Given the description of an element on the screen output the (x, y) to click on. 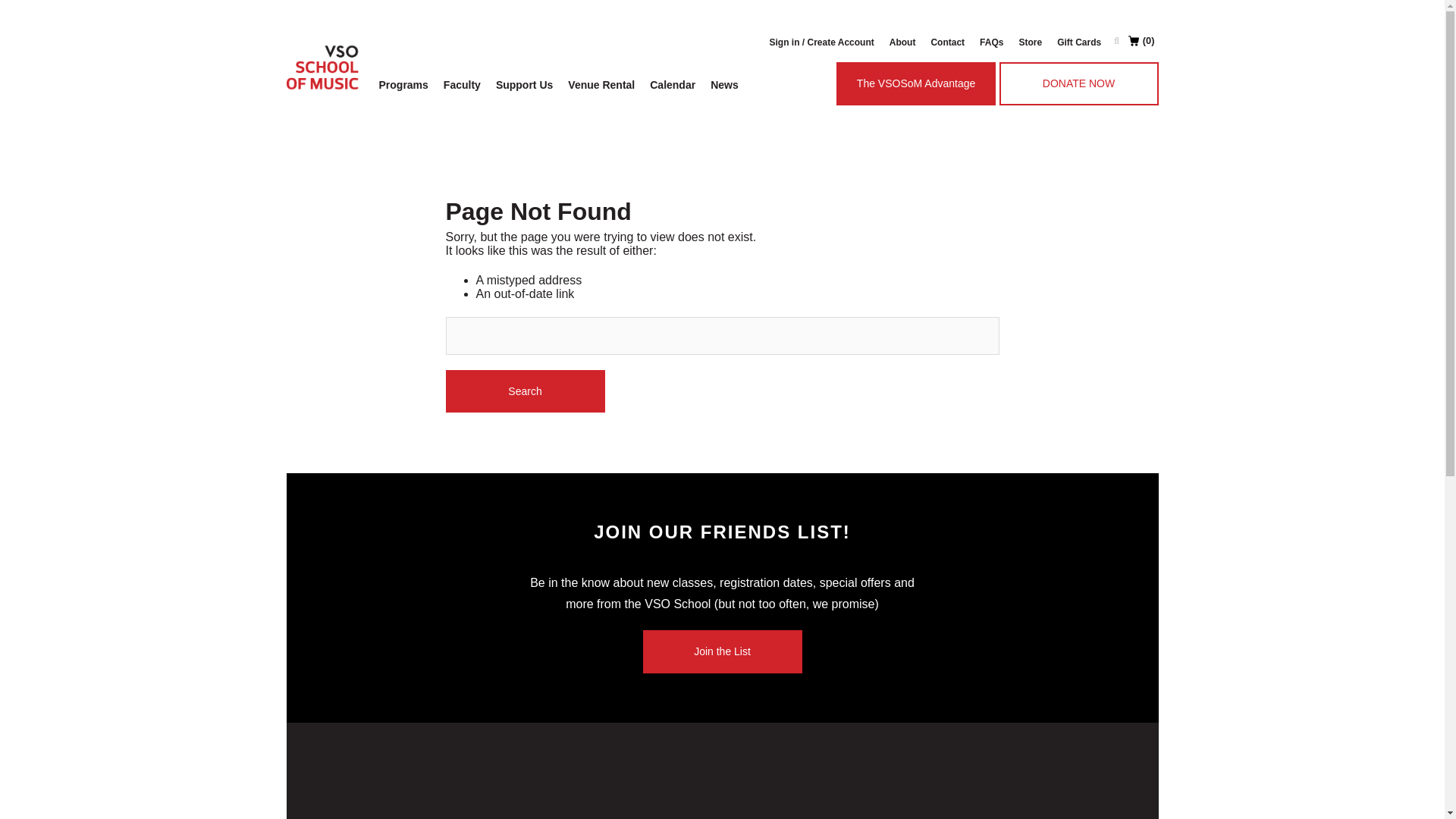
News (724, 84)
FAQs (991, 42)
VSO - School of Music  (322, 67)
Contact (947, 42)
Calendar (672, 84)
The VSOSoM Advantage (915, 83)
Store (1029, 42)
DONATE NOW (1078, 83)
Faculty (461, 84)
Gift Cards (1078, 42)
